Given the description of an element on the screen output the (x, y) to click on. 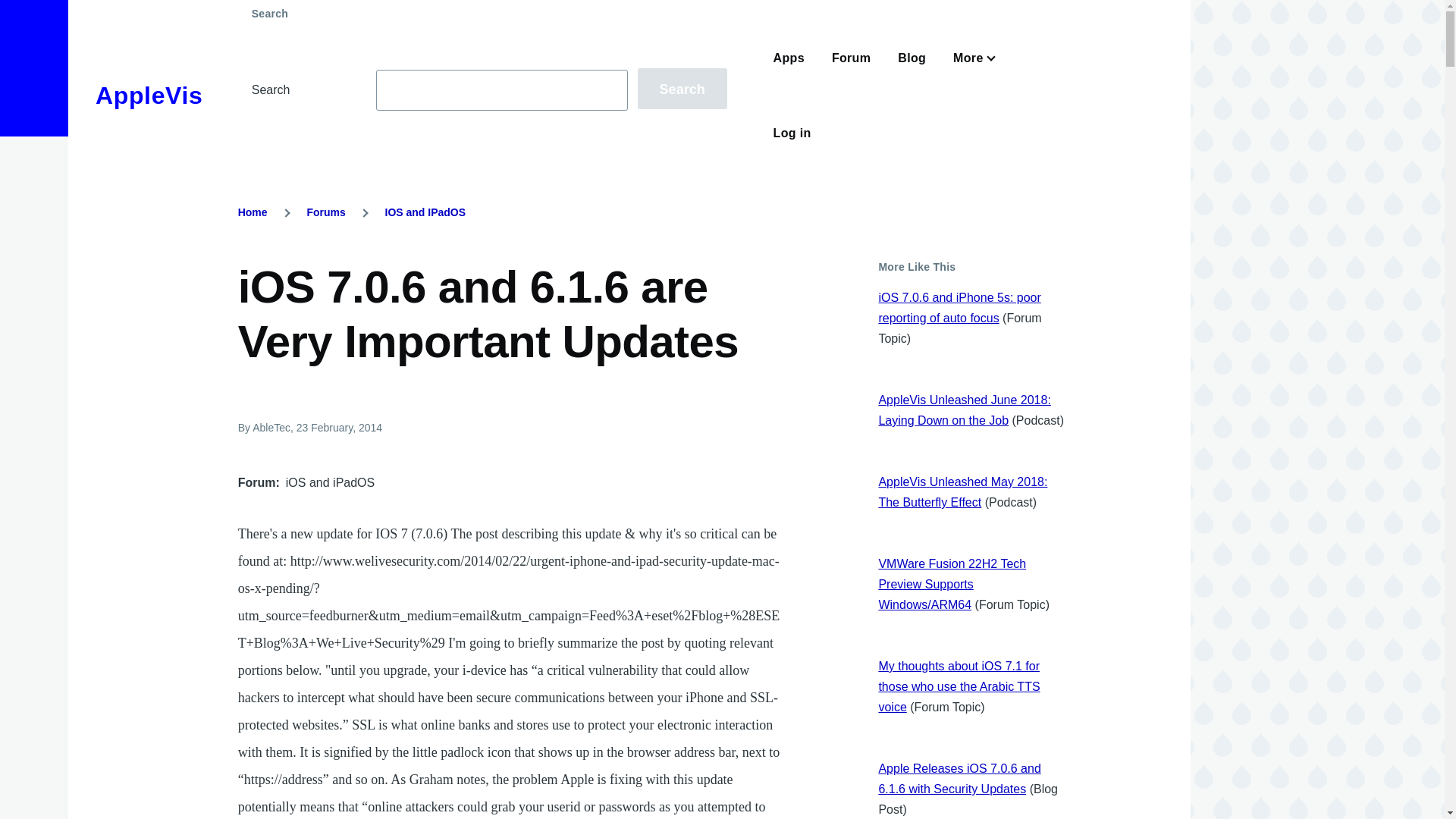
IOS and IPadOS (425, 212)
Browse and search our App Directories (789, 57)
Forums (325, 212)
Search (681, 87)
Blog (912, 57)
Forum (850, 57)
Apps (789, 57)
Home (149, 94)
Home (252, 212)
More (971, 57)
More community resources (971, 57)
Log in (791, 132)
AppleVis (149, 94)
Skip to main content (595, 6)
Search (681, 87)
